Given the description of an element on the screen output the (x, y) to click on. 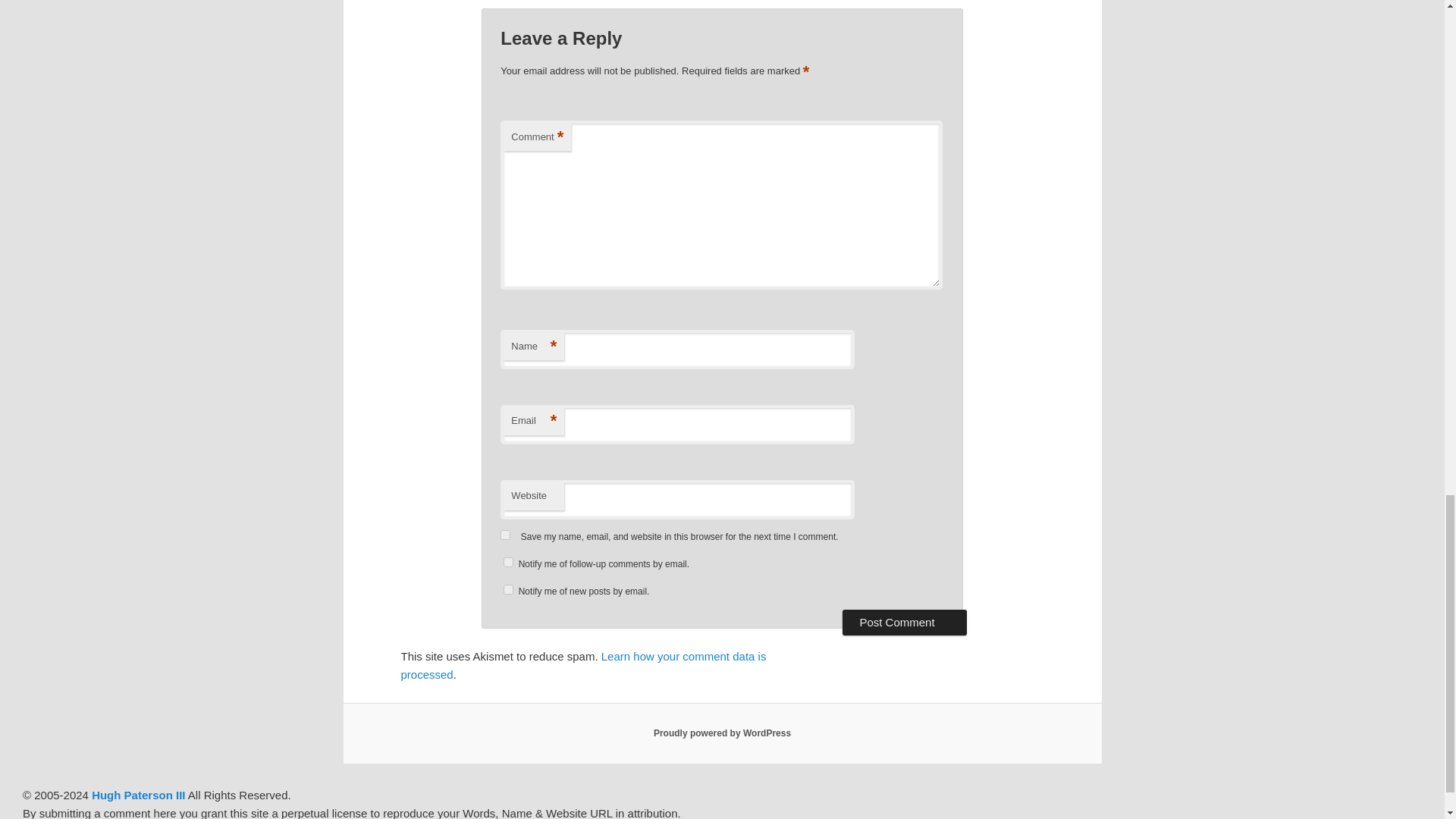
Post Comment (904, 622)
subscribe (508, 589)
subscribe (508, 562)
yes (505, 534)
